Given the description of an element on the screen output the (x, y) to click on. 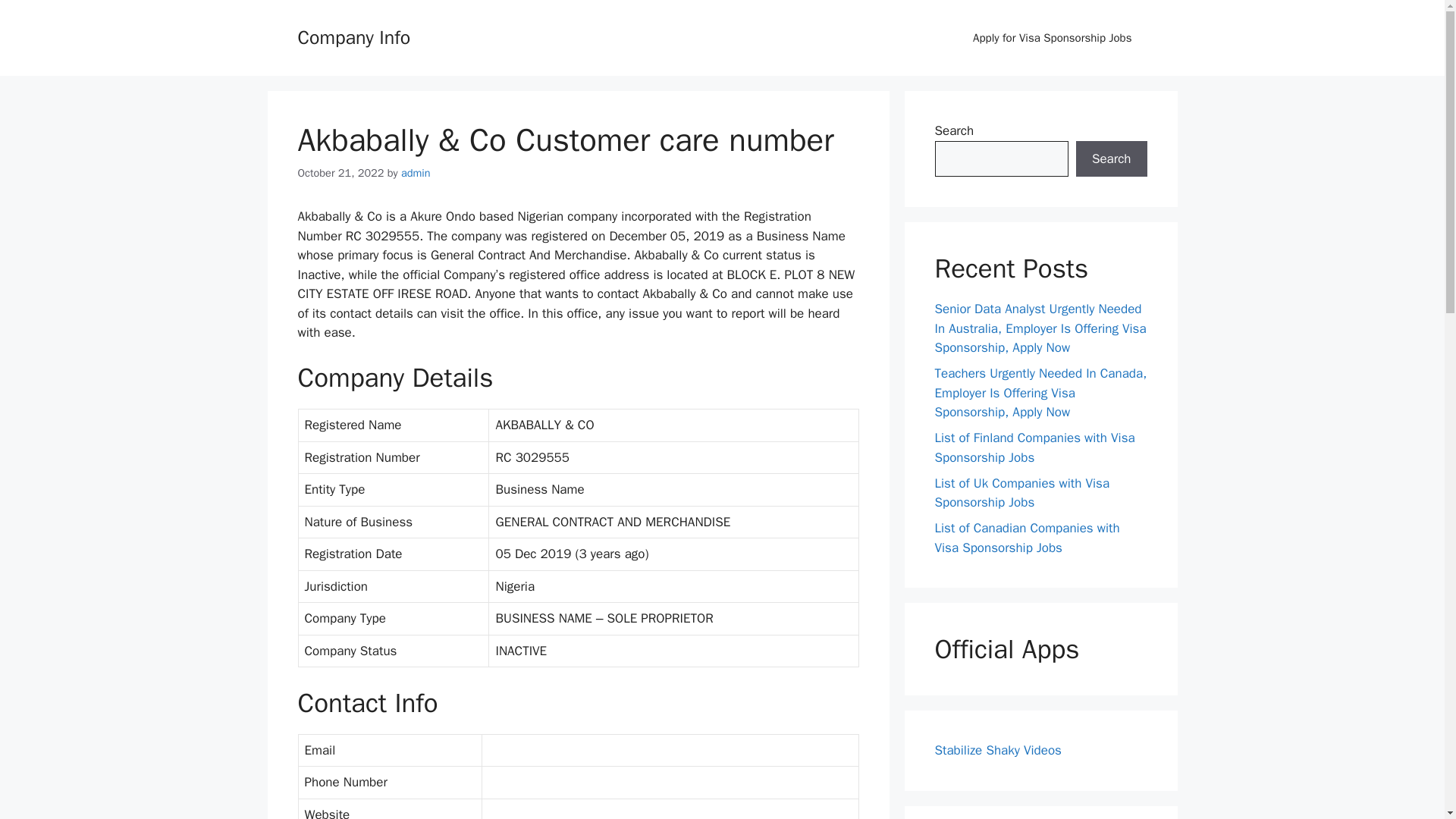
Company Info (353, 37)
admin (415, 172)
List of Finland Companies with Visa Sponsorship Jobs (1034, 447)
List of Canadian Companies with Visa Sponsorship Jobs (1026, 538)
Apply for Visa Sponsorship Jobs (1052, 37)
View all posts by admin (415, 172)
Search (1111, 158)
List of Uk Companies with Visa Sponsorship Jobs (1021, 492)
Stabilize Shaky Videos (997, 750)
